Given the description of an element on the screen output the (x, y) to click on. 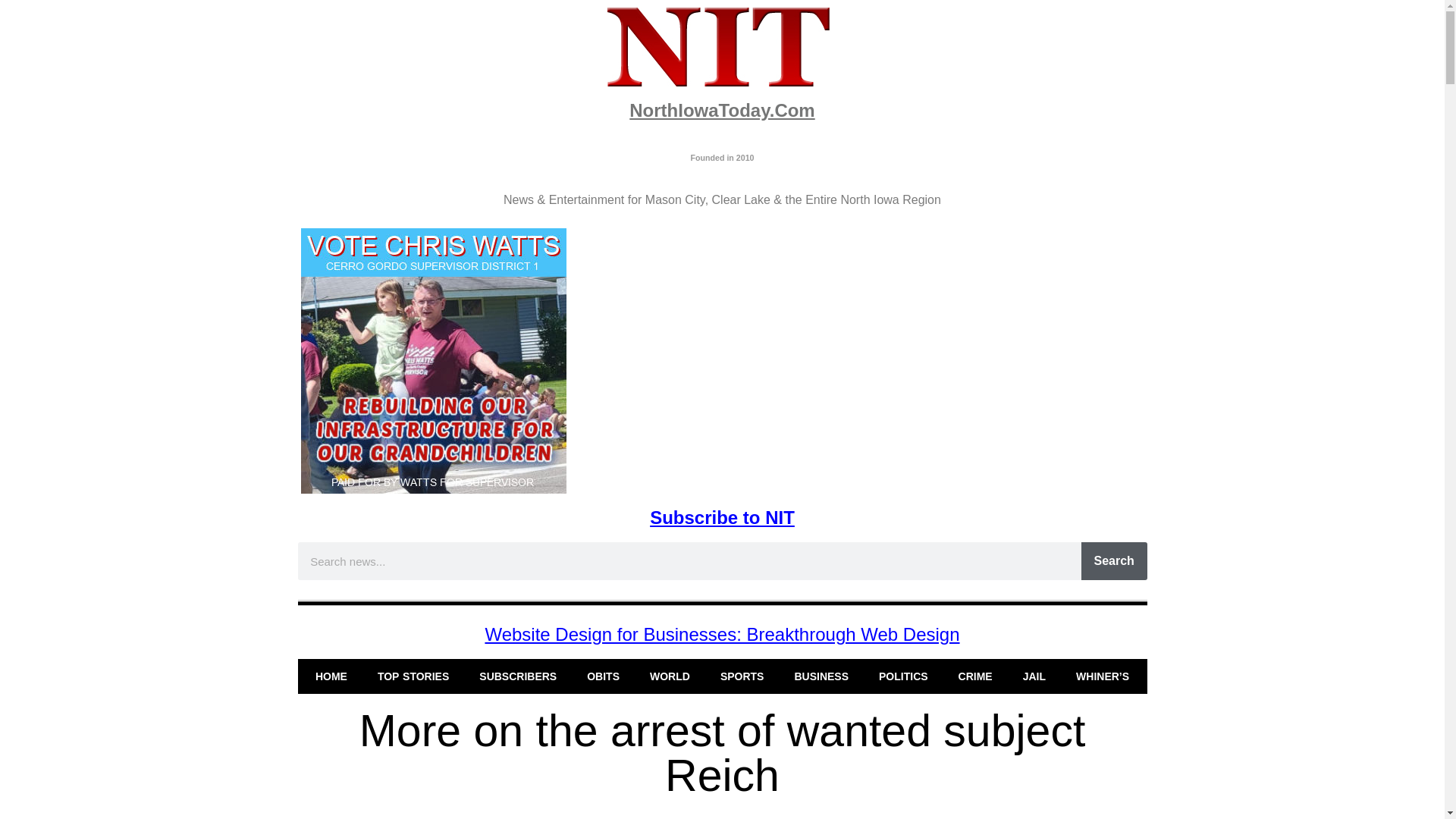
WORLD (669, 676)
JAIL (1034, 676)
OBITS (603, 676)
HOME (330, 676)
SUBSCRIBERS (518, 676)
NorthIowaToday.Com (720, 109)
BUSINESS (820, 676)
Subscribe to NIT (721, 516)
TOP STORIES (413, 676)
Website Design for Businesses: Breakthrough Web Design (721, 634)
